Given the description of an element on the screen output the (x, y) to click on. 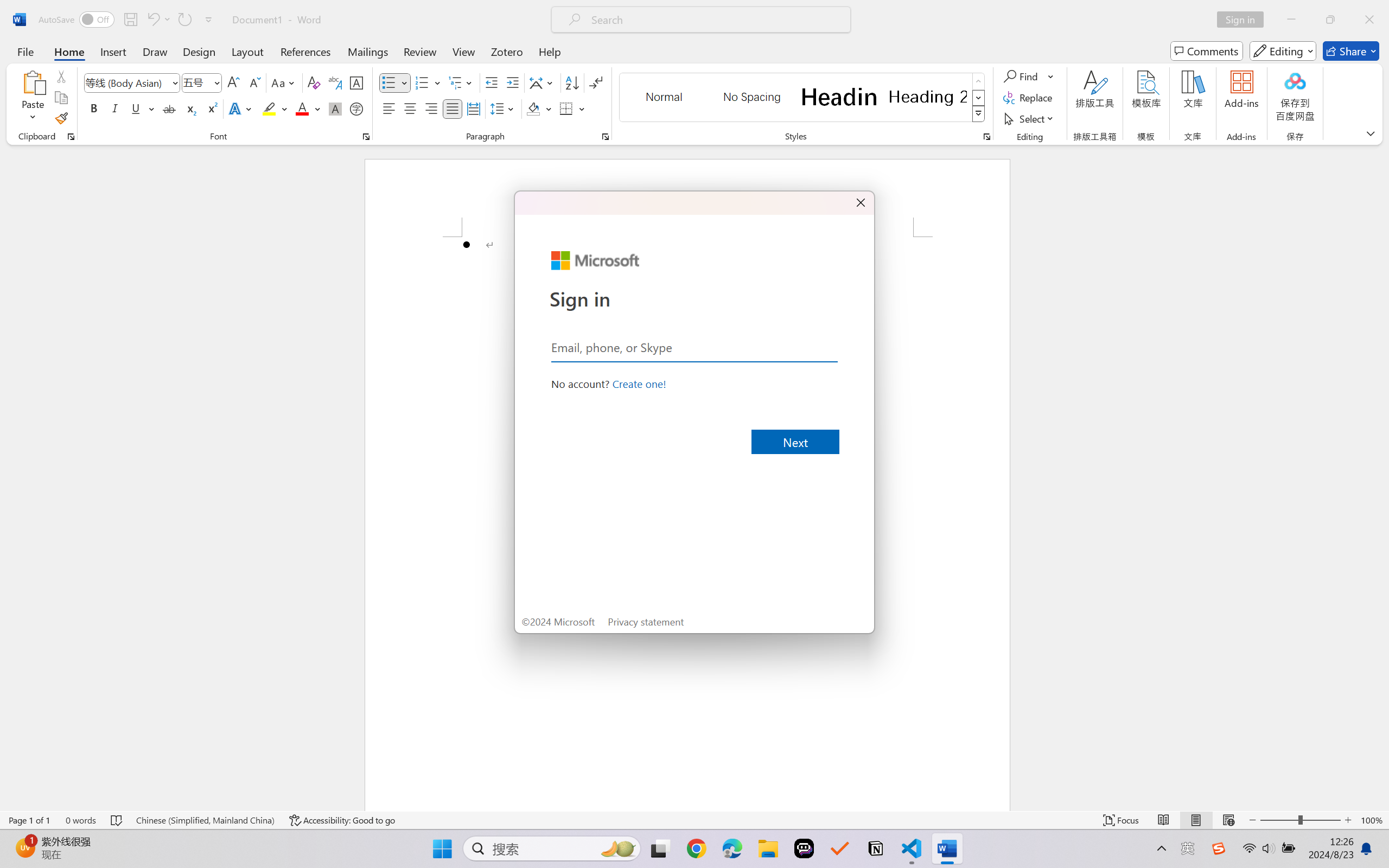
Undo Bullet Default (158, 19)
